Given the description of an element on the screen output the (x, y) to click on. 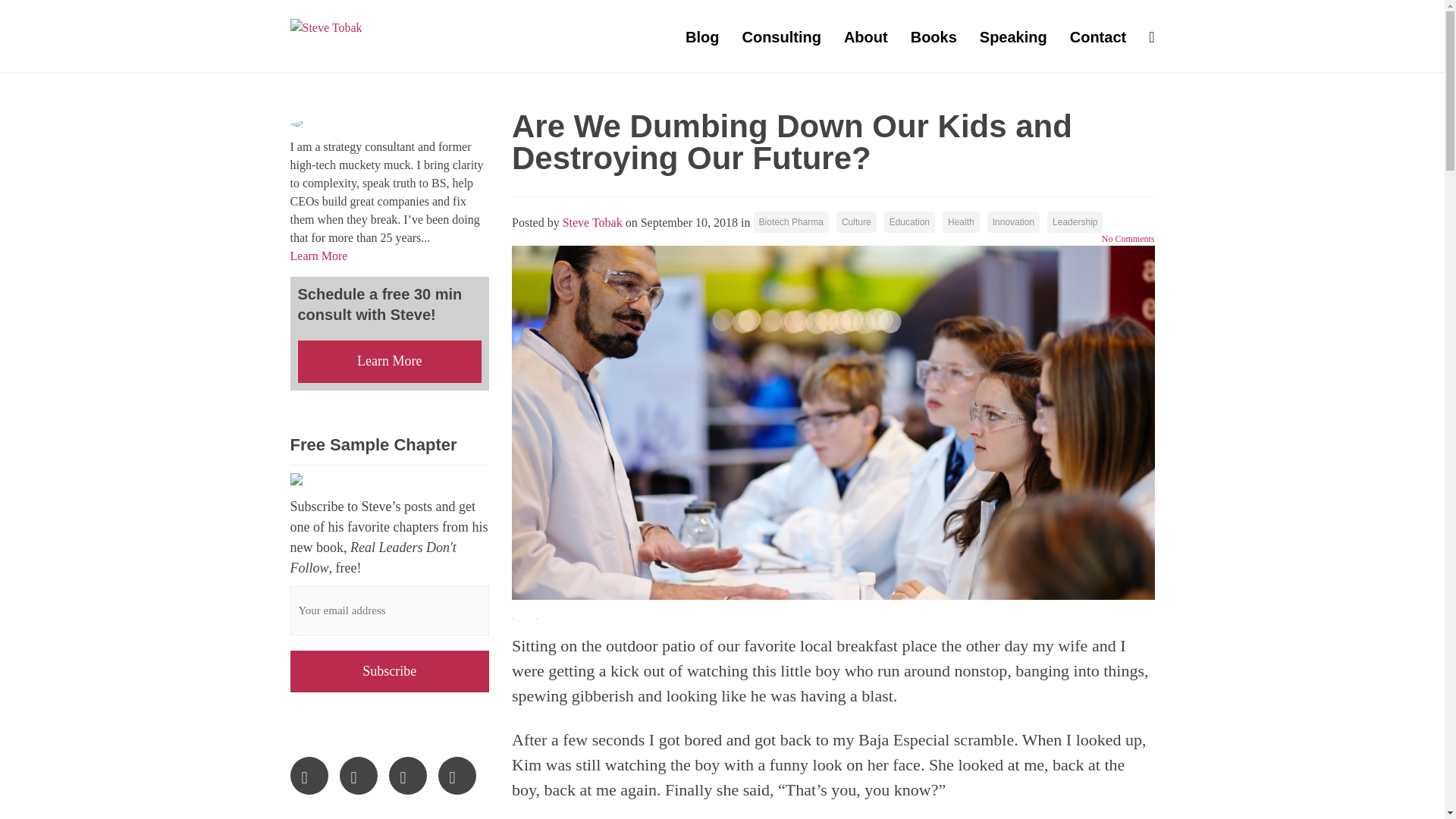
About (865, 36)
Subscribe (389, 671)
Innovation (1013, 221)
Consulting (780, 36)
Posts by Steve Tobak (592, 222)
Health (960, 221)
Learn More (318, 256)
Learn More (389, 361)
Subscribe (389, 671)
